Given the description of an element on the screen output the (x, y) to click on. 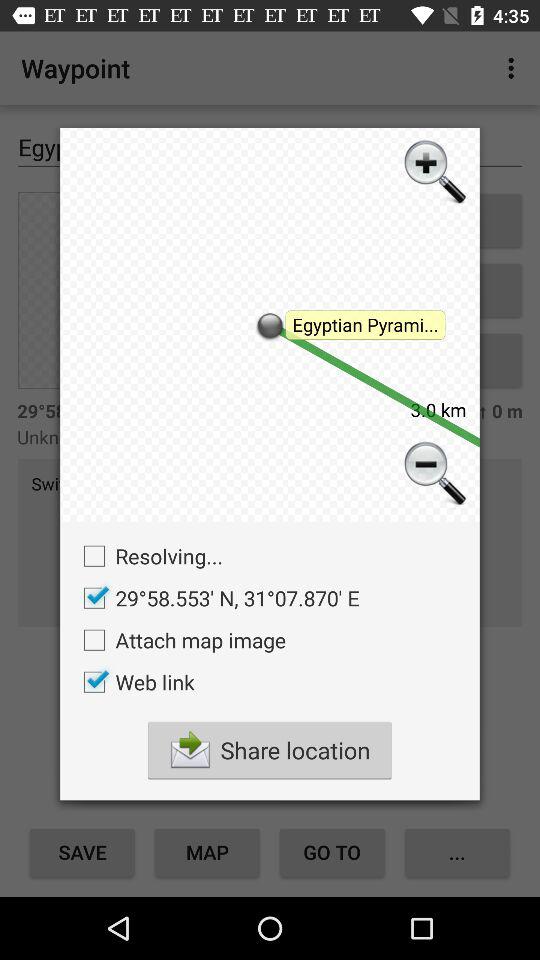
press the resolving... (148, 556)
